Given the description of an element on the screen output the (x, y) to click on. 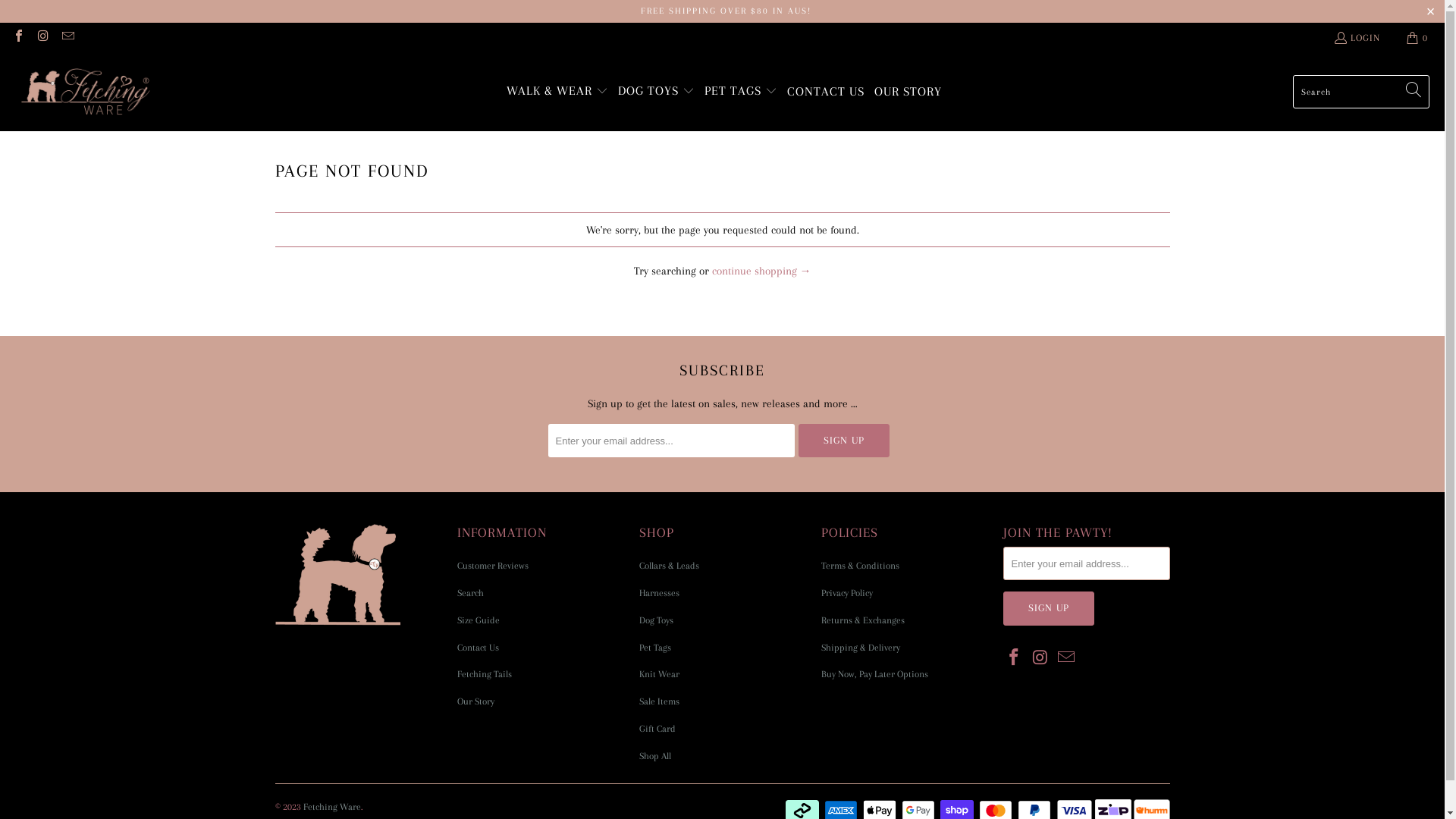
Fetching Ware Element type: text (331, 806)
Terms & Conditions Element type: text (859, 565)
Sign Up Element type: text (1047, 608)
Search Element type: text (469, 592)
Sign Up Element type: text (842, 440)
Shop All Element type: text (654, 755)
Contact Us Element type: text (477, 647)
Collars & Leads Element type: text (668, 565)
Size Guide Element type: text (477, 620)
Customer Reviews Element type: text (491, 565)
Gift Card Element type: text (656, 728)
Knit Wear Element type: text (658, 673)
Returns & Exchanges Element type: text (861, 620)
Email Fetching Ware Element type: hover (67, 37)
Email Fetching Ware Element type: hover (1066, 658)
Sale Items Element type: text (658, 701)
0 Element type: text (1417, 37)
Pet Tags Element type: text (654, 647)
Fetching Ware on Instagram Element type: hover (1040, 658)
Dog Toys Element type: text (655, 620)
Fetching Ware on Facebook Element type: hover (18, 37)
Fetching Ware on Instagram Element type: hover (42, 37)
Fetching Ware on Facebook Element type: hover (1013, 658)
CONTACT US Element type: text (825, 91)
Privacy Policy Element type: text (846, 592)
Fetching Ware Element type: hover (85, 91)
Harnesses Element type: text (658, 592)
OUR STORY Element type: text (907, 91)
Buy Now, Pay Later Options Element type: text (873, 673)
LOGIN Element type: text (1356, 37)
Shipping & Delivery Element type: text (859, 647)
Our Story Element type: text (474, 701)
Fetching Tails Element type: text (483, 673)
